Given the description of an element on the screen output the (x, y) to click on. 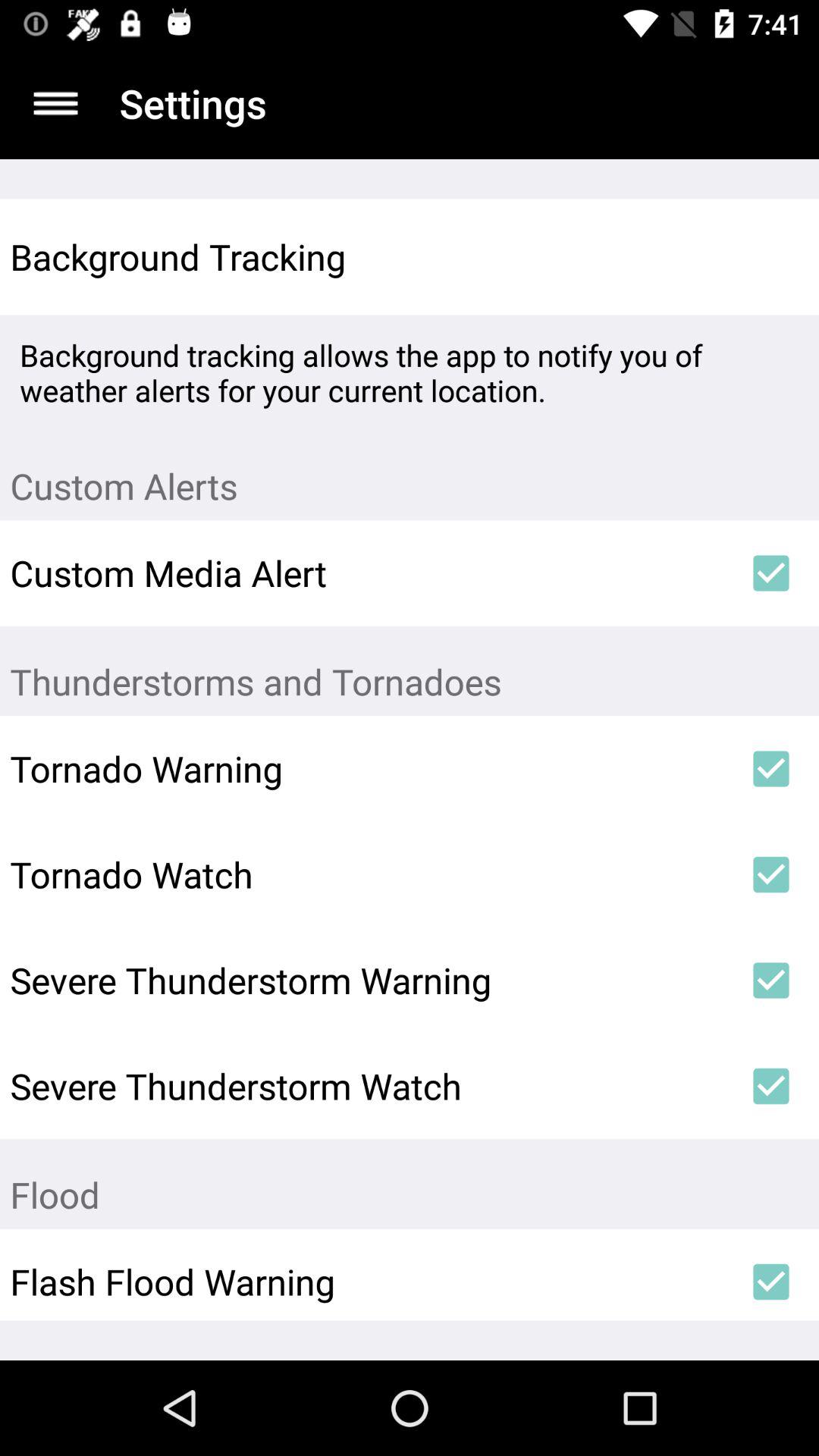
turn off the icon at the top right corner (771, 256)
